Given the description of an element on the screen output the (x, y) to click on. 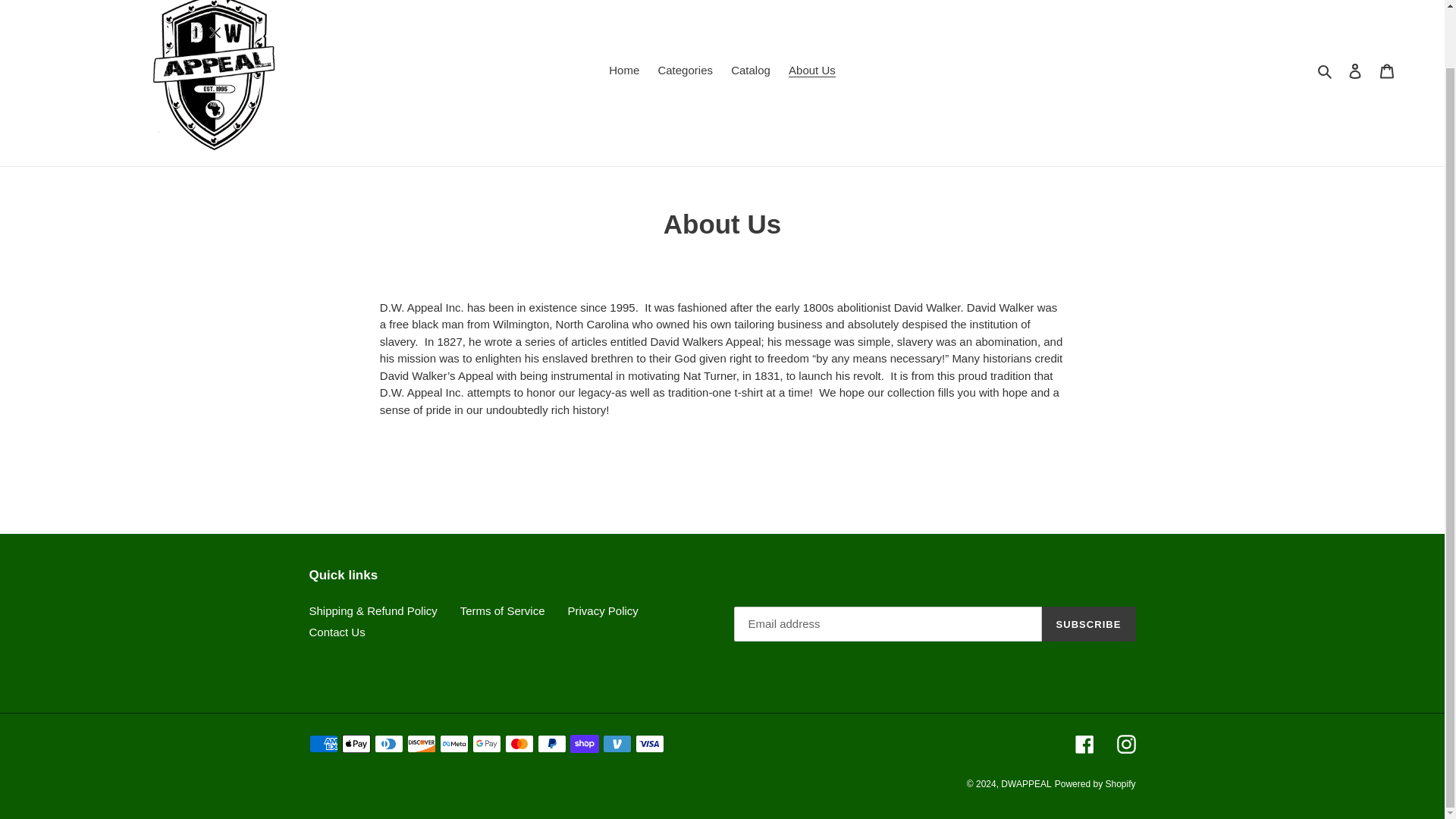
Search (1326, 70)
Cart (1387, 70)
About Us (811, 70)
Contact Us (336, 631)
Powered by Shopify (1094, 783)
SUBSCRIBE (1088, 623)
Catalog (750, 70)
DWAPPEAL (1026, 783)
Categories (684, 70)
Log in (1355, 70)
